Given the description of an element on the screen output the (x, y) to click on. 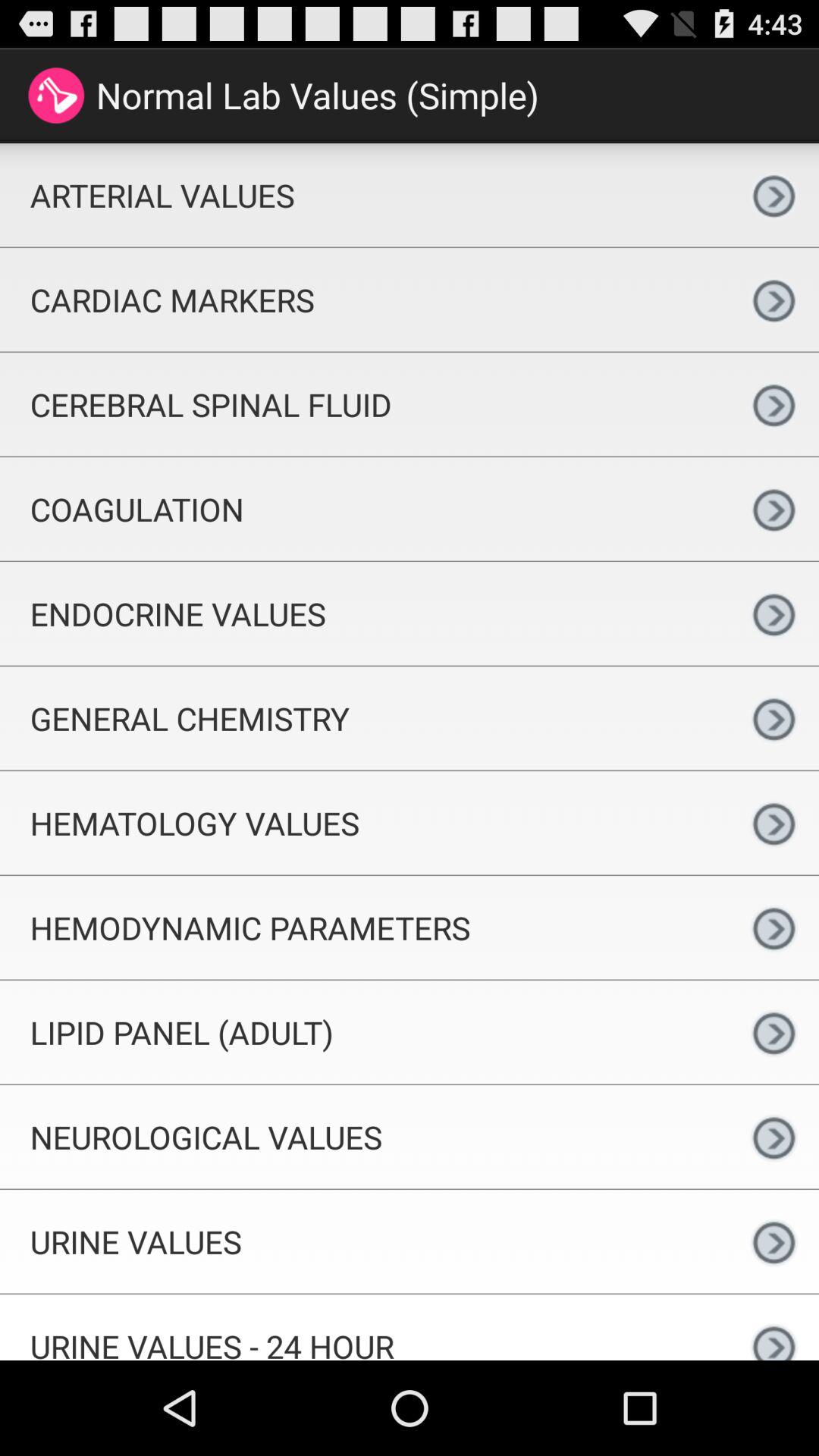
select the icon below lipid panel (adult) icon (364, 1136)
